Given the description of an element on the screen output the (x, y) to click on. 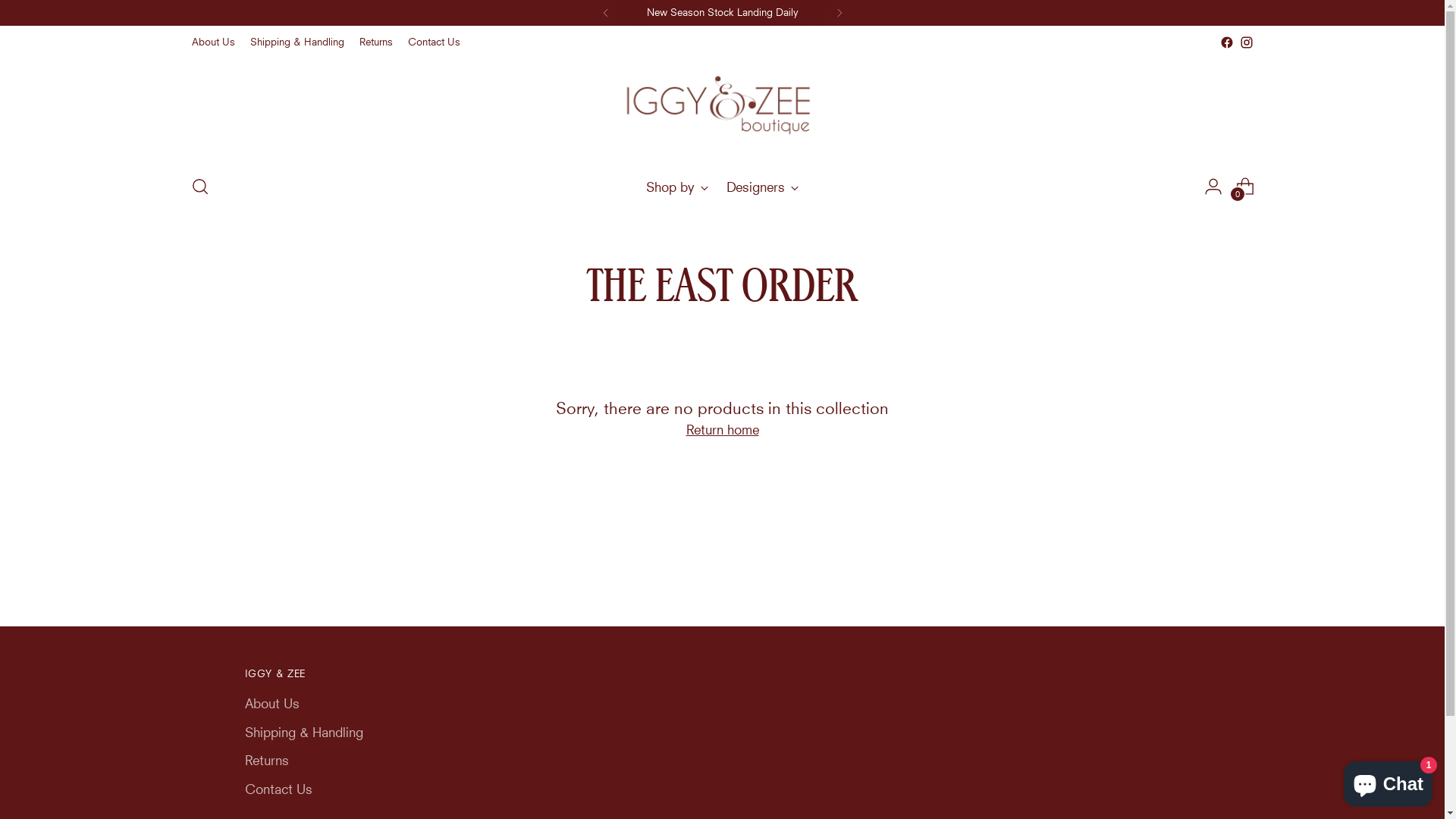
Shipping & Handling Element type: text (303, 732)
Shop by Element type: text (676, 186)
Iggy & Zee on Facebook Element type: hover (1226, 42)
New Season Stock Landing Daily Element type: text (721, 12)
Returns Element type: text (266, 760)
0 Element type: text (1245, 186)
Shipping & Handling Element type: text (297, 42)
About Us Element type: text (271, 703)
About Us Element type: text (212, 42)
Next Element type: hover (838, 12)
Iggy & Zee on Instagram Element type: hover (1245, 42)
Contact Us Element type: text (433, 42)
Returns Element type: text (375, 42)
Contact Us Element type: text (277, 789)
Shopify online store chat Element type: hover (1388, 780)
Return home Element type: text (721, 429)
Previous Element type: hover (604, 12)
Designers Element type: text (762, 186)
